Given the description of an element on the screen output the (x, y) to click on. 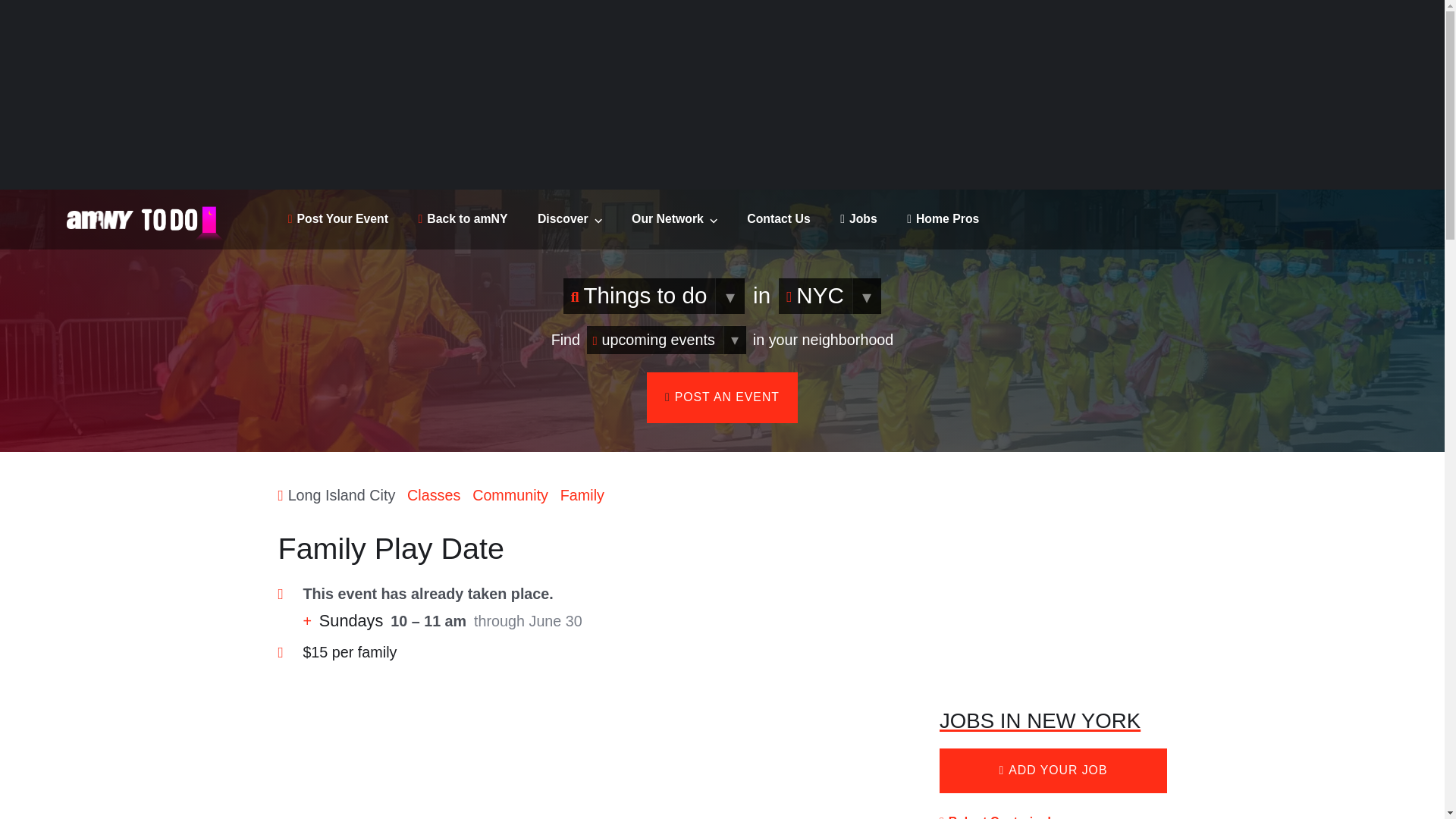
Our Network (674, 218)
Back to amNY (463, 218)
Discover (569, 218)
Post Your Event (338, 218)
